Given the description of an element on the screen output the (x, y) to click on. 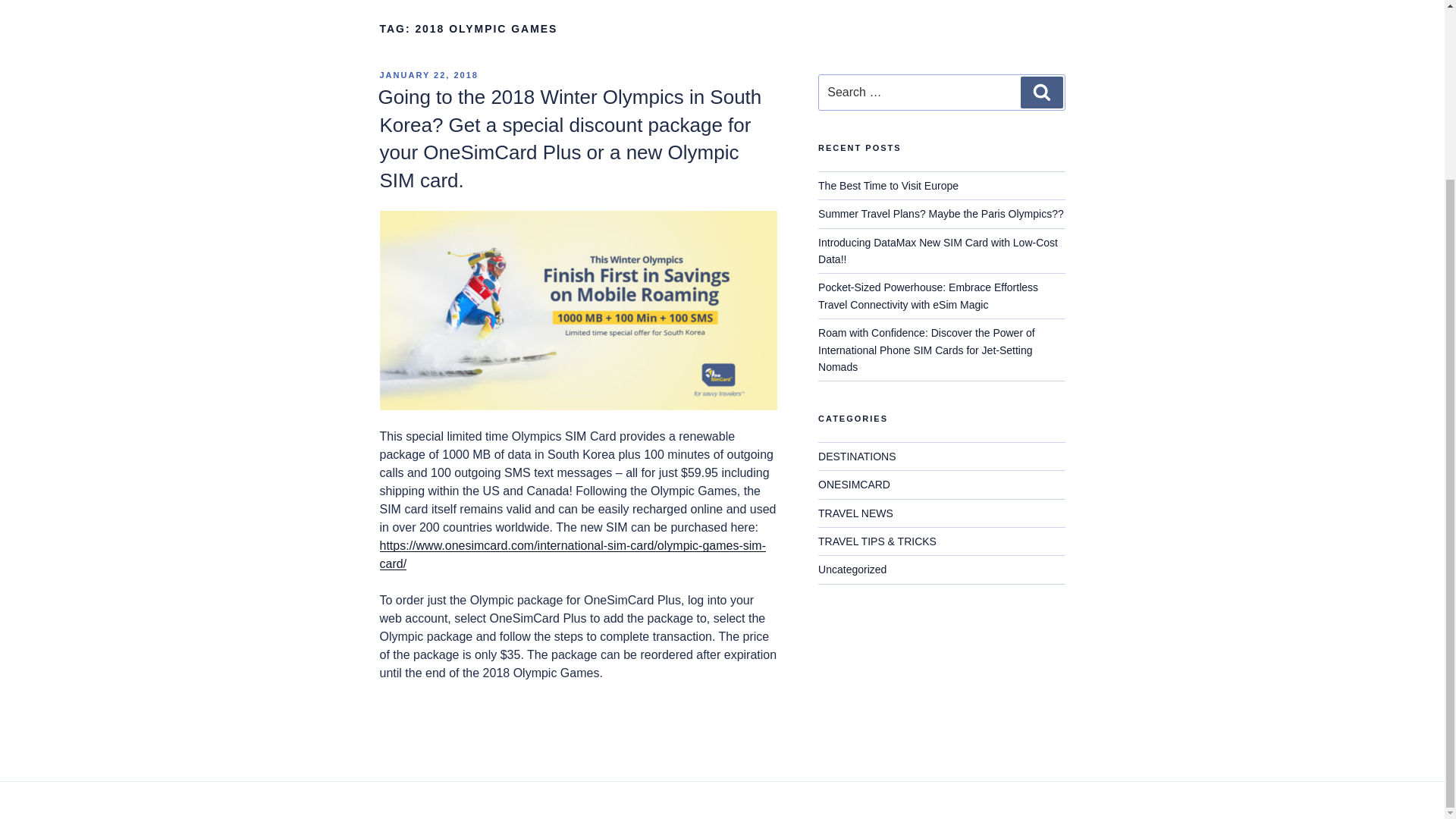
Introducing DataMax New SIM Card with Low-Cost Data!! (938, 250)
Uncategorized (852, 569)
Summer Travel Plans? Maybe the Paris Olympics?? (941, 214)
TRAVEL NEWS (855, 512)
The Best Time to Visit Europe (888, 185)
JANUARY 22, 2018 (427, 74)
ONESIMCARD (853, 484)
Search (1041, 92)
DESTINATIONS (856, 456)
